Given the description of an element on the screen output the (x, y) to click on. 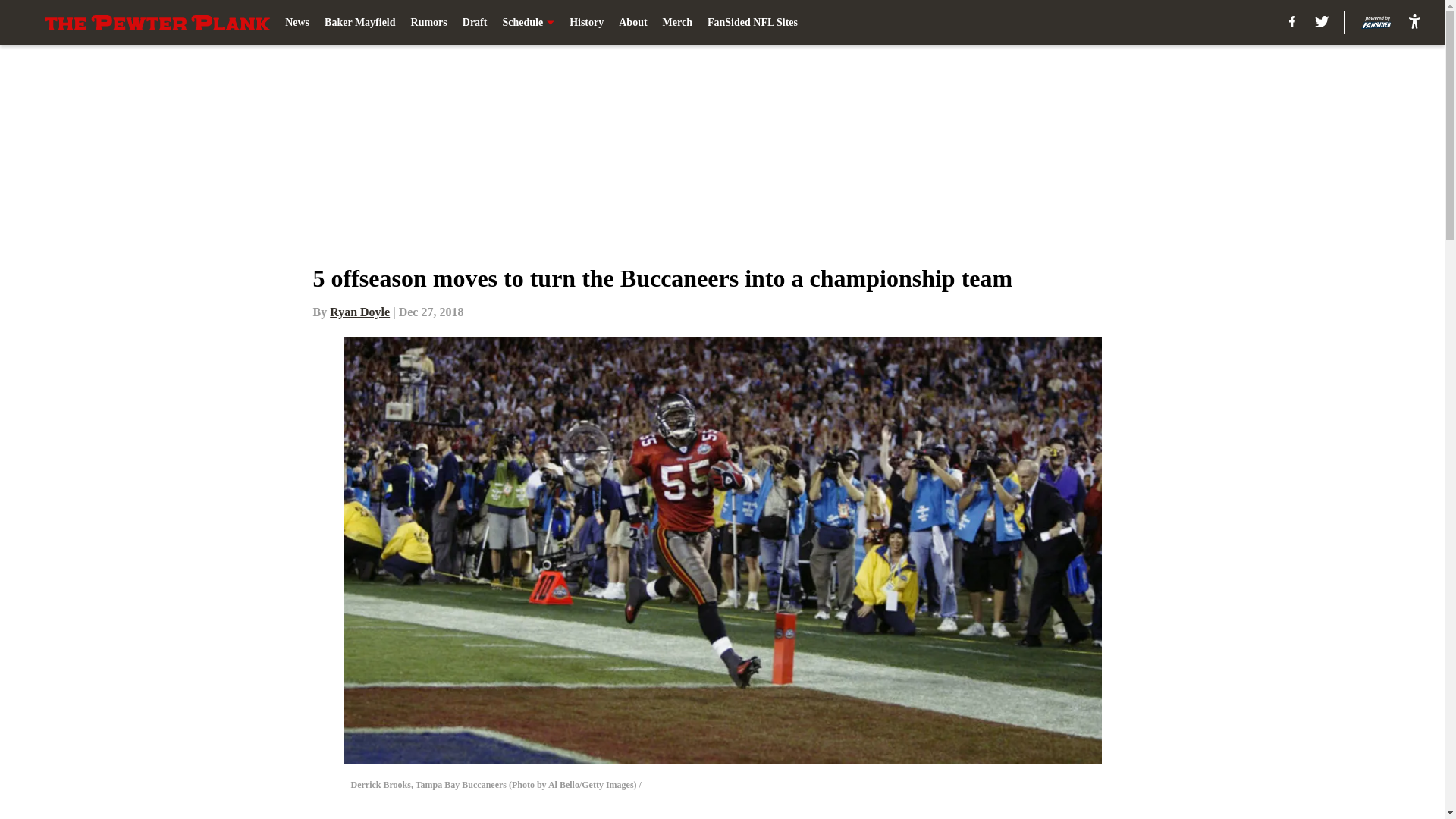
About (632, 22)
Rumors (428, 22)
FanSided NFL Sites (752, 22)
Merch (677, 22)
Draft (475, 22)
History (586, 22)
Baker Mayfield (359, 22)
Ryan Doyle (360, 311)
News (296, 22)
